Given the description of an element on the screen output the (x, y) to click on. 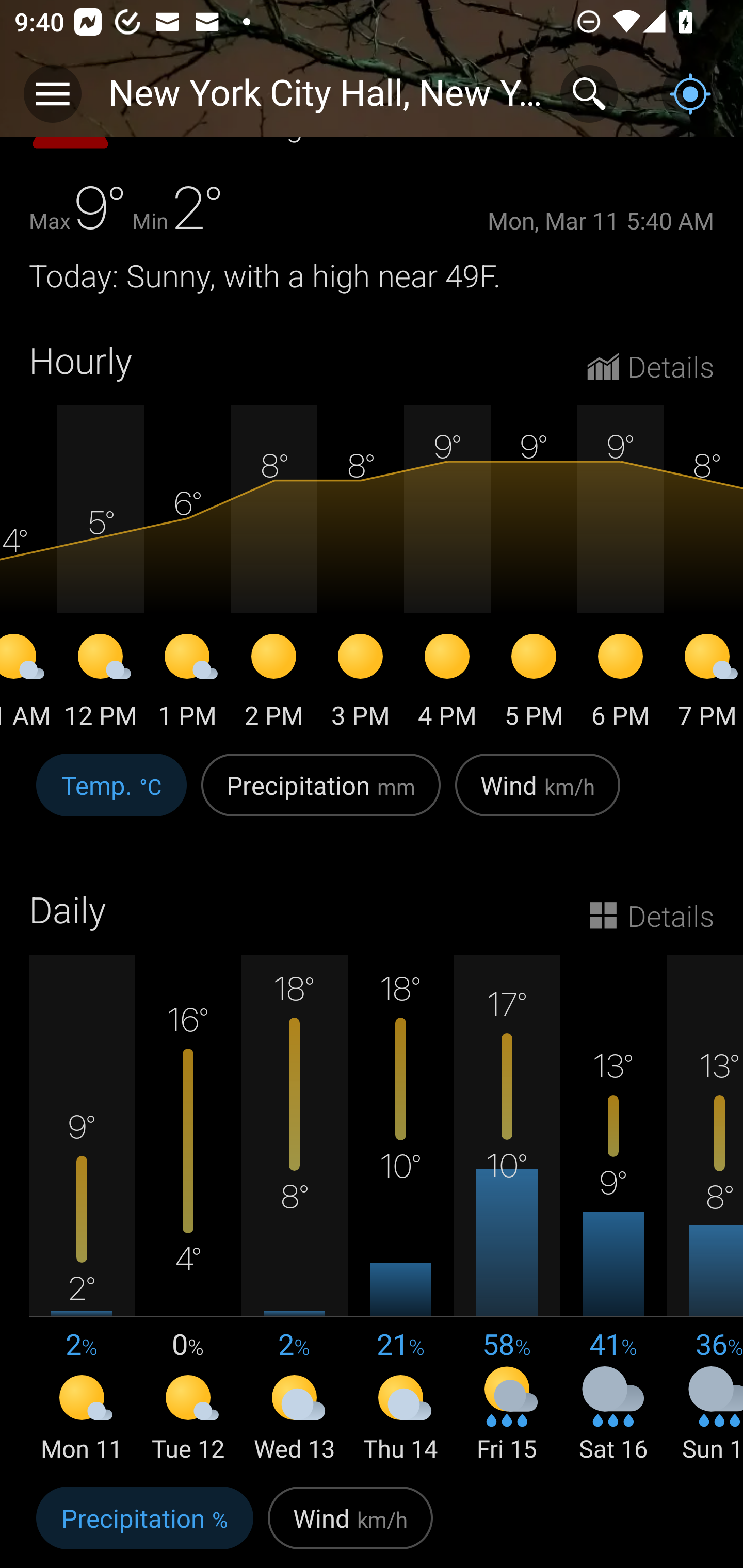
11 AM (28, 684)
12 PM (100, 684)
1 PM (187, 684)
2 PM (273, 684)
3 PM (360, 684)
4 PM (447, 684)
5 PM (533, 684)
6 PM (620, 684)
7 PM (703, 684)
Temp. °C (110, 795)
Precipitation mm (320, 795)
Wind km/h (537, 795)
9° 2° 2 % Mon 11 (81, 1209)
16° 4° 0 % Tue 12 (188, 1209)
18° 8° 2 % Wed 13 (294, 1209)
18° 10° 21 % Thu 14 (400, 1209)
17° 10° 58 % Fri 15 (506, 1209)
13° 9° 41 % Sat 16 (613, 1209)
13° 8° 36 % Sun 17 (704, 1209)
Precipitation % (144, 1523)
Wind km/h (349, 1523)
